Given the description of an element on the screen output the (x, y) to click on. 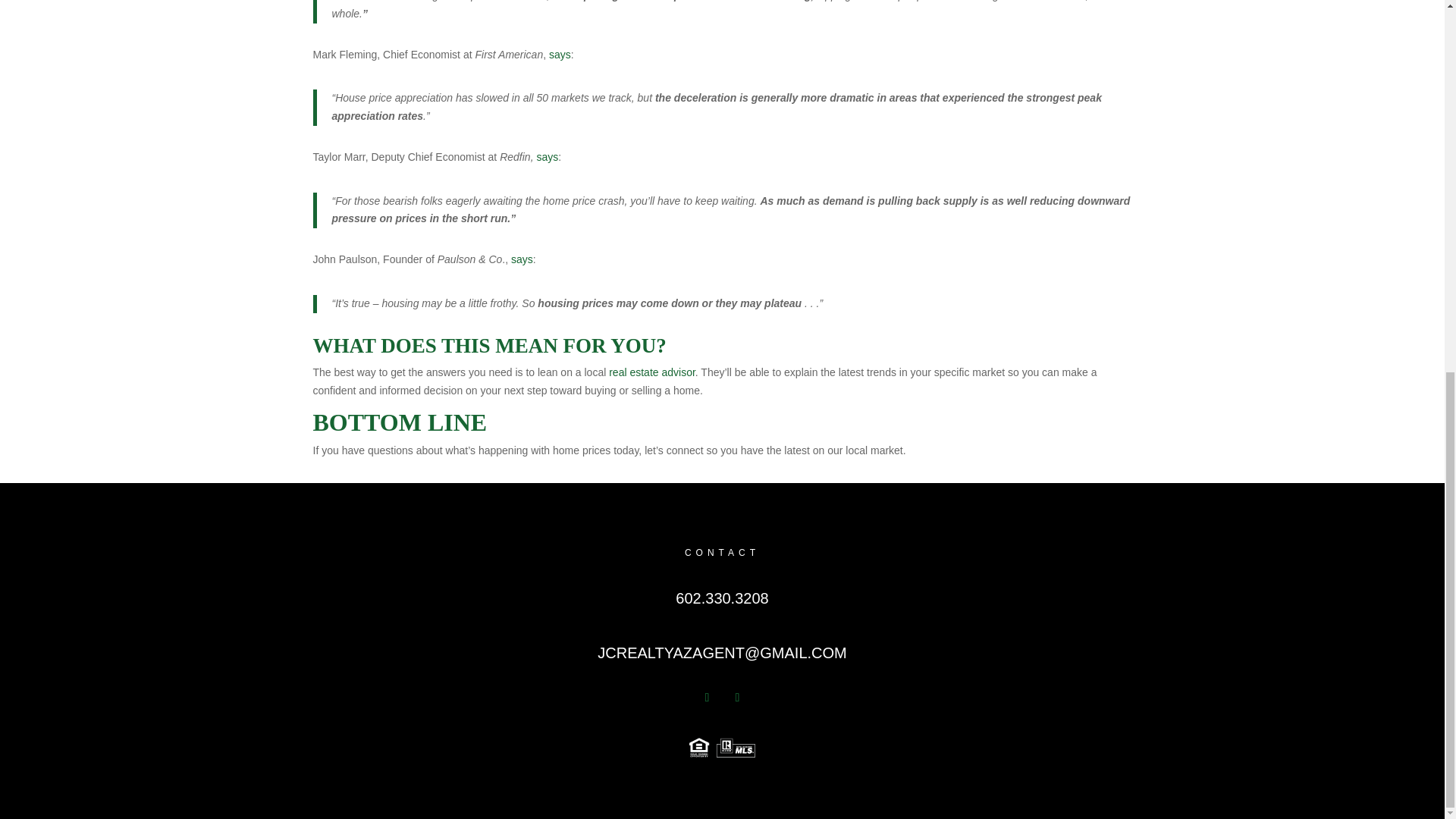
Follow on Instagram (737, 697)
602.330.3208 (721, 597)
says (521, 259)
Follow on Facebook (706, 697)
says (559, 54)
real estate advisor (651, 372)
says (546, 156)
